Given the description of an element on the screen output the (x, y) to click on. 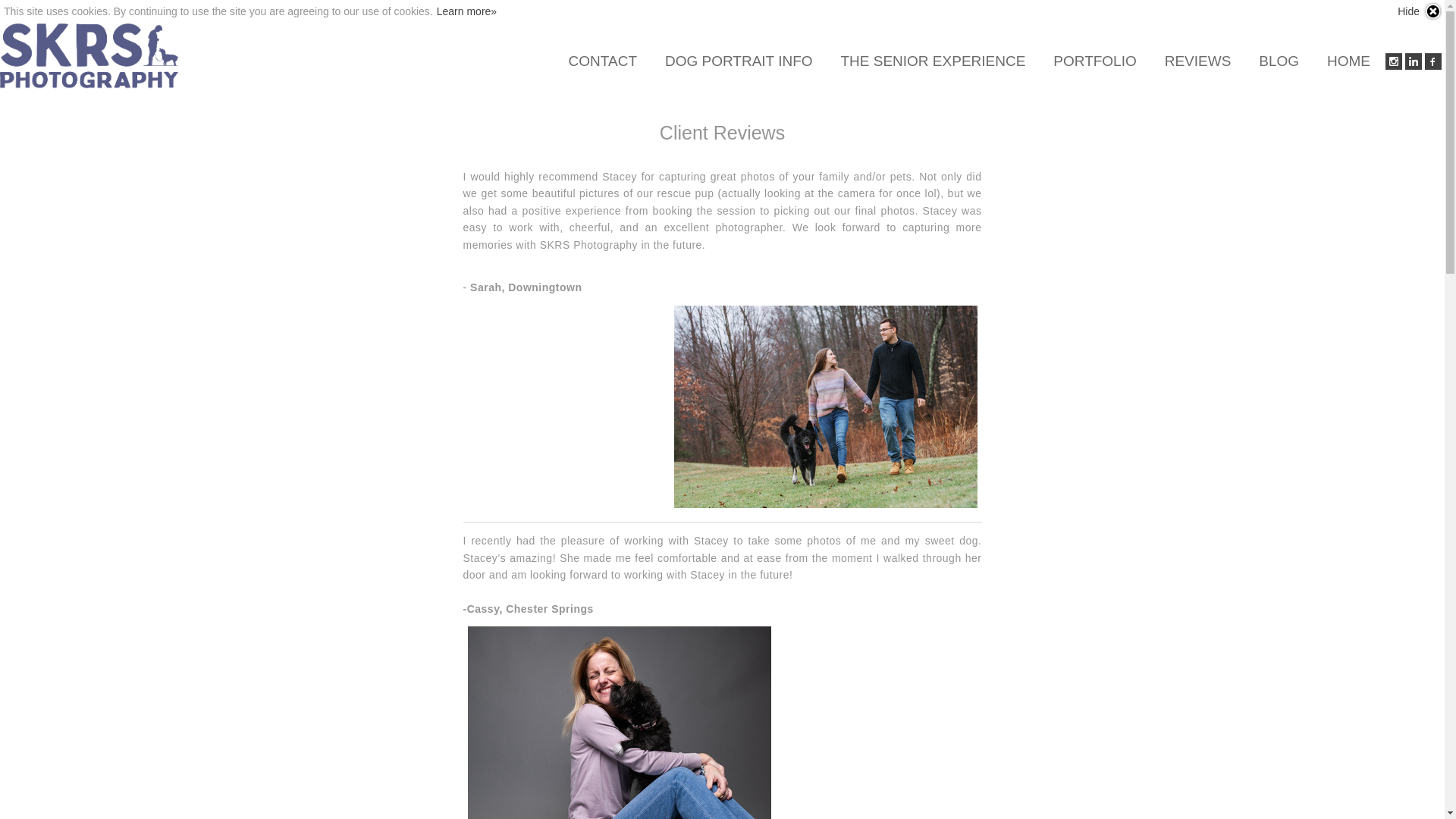
DOG PORTRAIT INFO (739, 60)
REVIEWS (1198, 60)
HOME (1347, 60)
THE SENIOR EXPERIENCE (932, 60)
CONTACT (602, 60)
BLOG (1278, 60)
Hide (1419, 11)
PORTFOLIO (1093, 60)
